Given the description of an element on the screen output the (x, y) to click on. 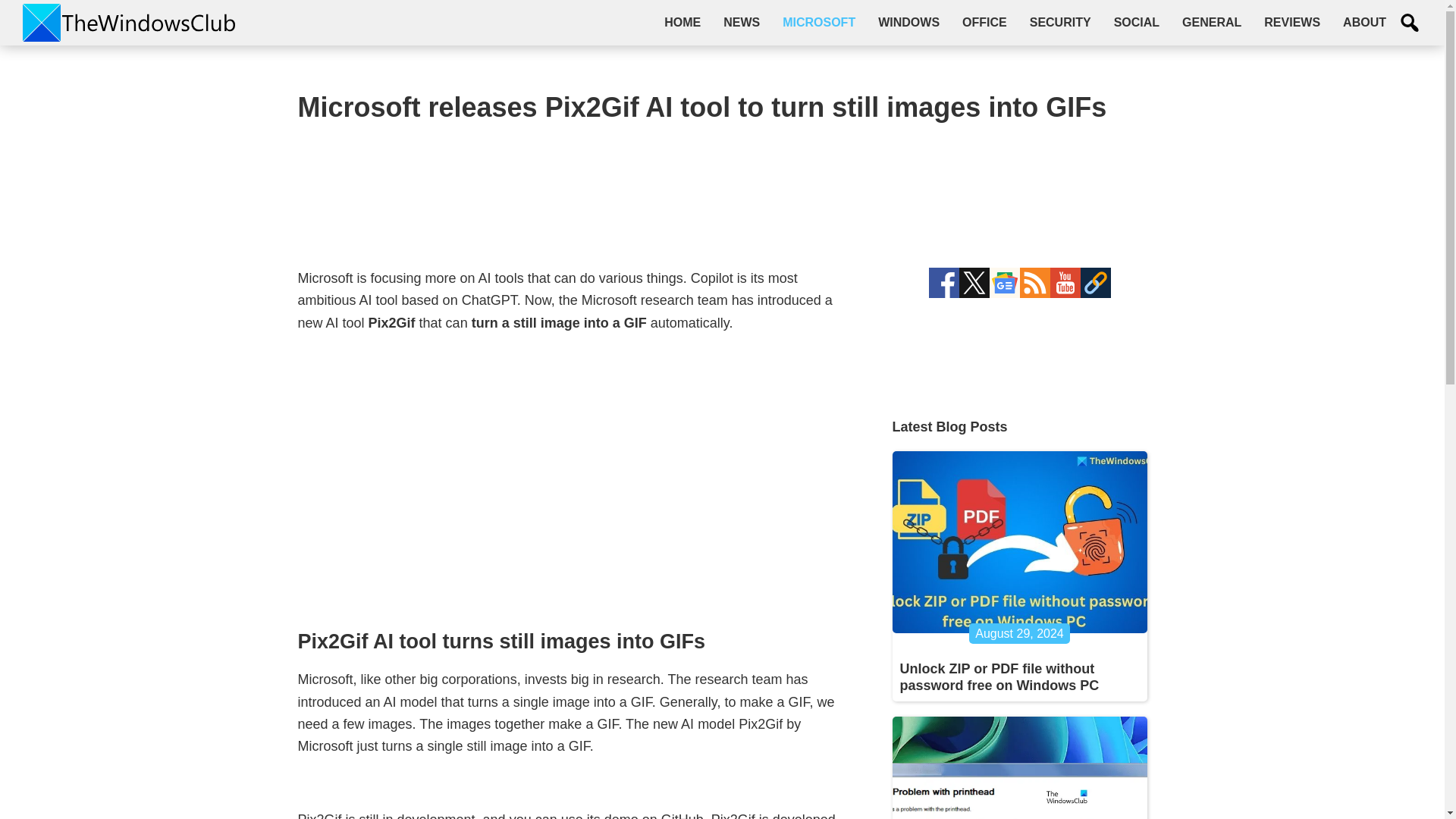
OFFICE (983, 22)
SECURITY (1059, 22)
ABOUT (1364, 22)
Show Search (1409, 22)
NEWS (741, 22)
Unlock ZIP or PDF file without password free on Windows PC (999, 676)
MICROSOFT (818, 22)
REVIEWS (1292, 22)
GENERAL (1211, 22)
